Given the description of an element on the screen output the (x, y) to click on. 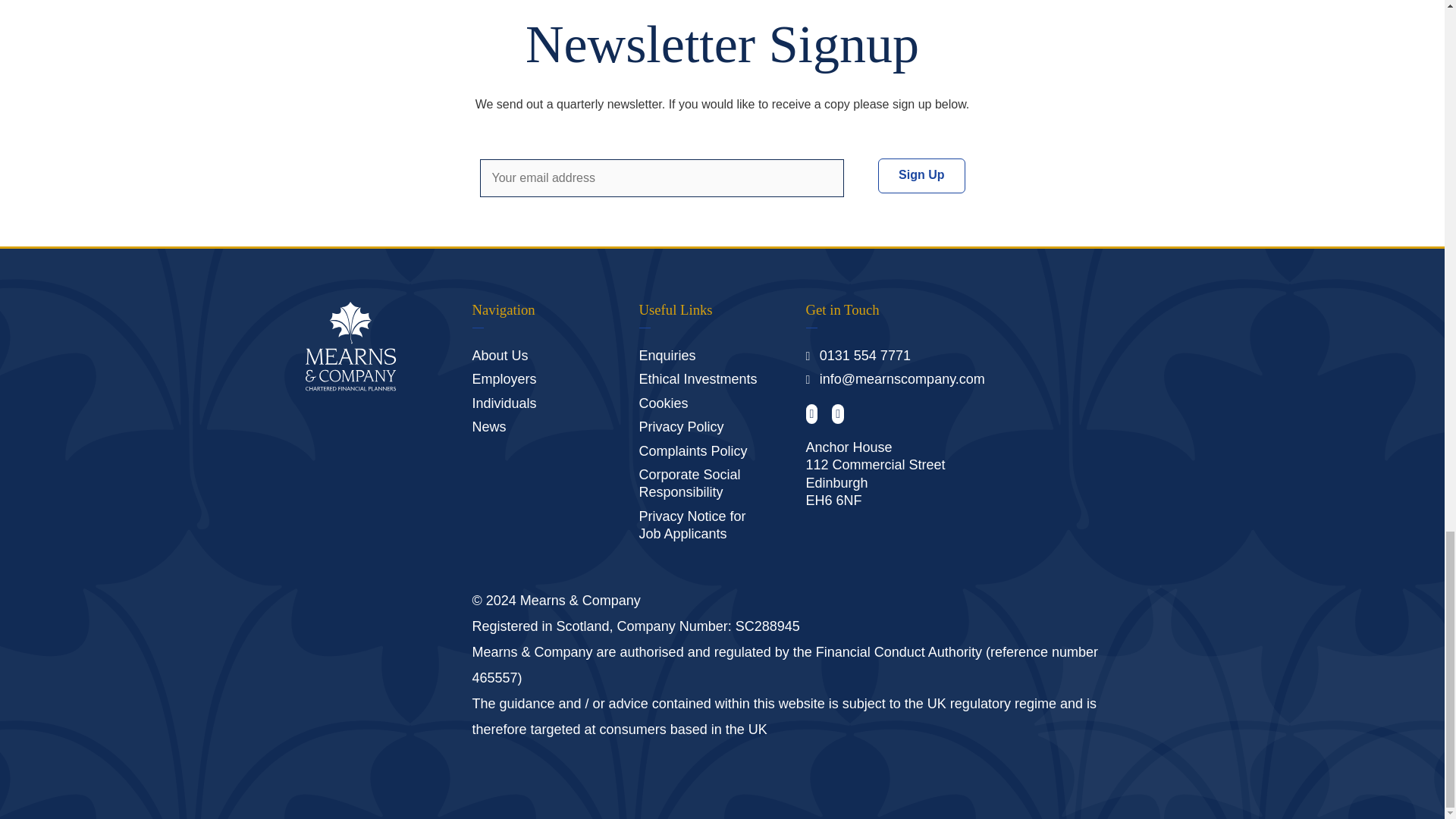
Corporate Social Responsibility (689, 482)
Complaints Policy (692, 450)
0131 554 7771 (865, 355)
Cookies (663, 403)
Individuals (503, 403)
Sign Up (920, 175)
Sign Up (920, 175)
Employers (503, 378)
Ethical Investments (698, 378)
Enquiries (667, 355)
Privacy Notice for Job Applicants (692, 524)
About Us (499, 355)
Privacy Policy (681, 426)
News (488, 426)
